Given the description of an element on the screen output the (x, y) to click on. 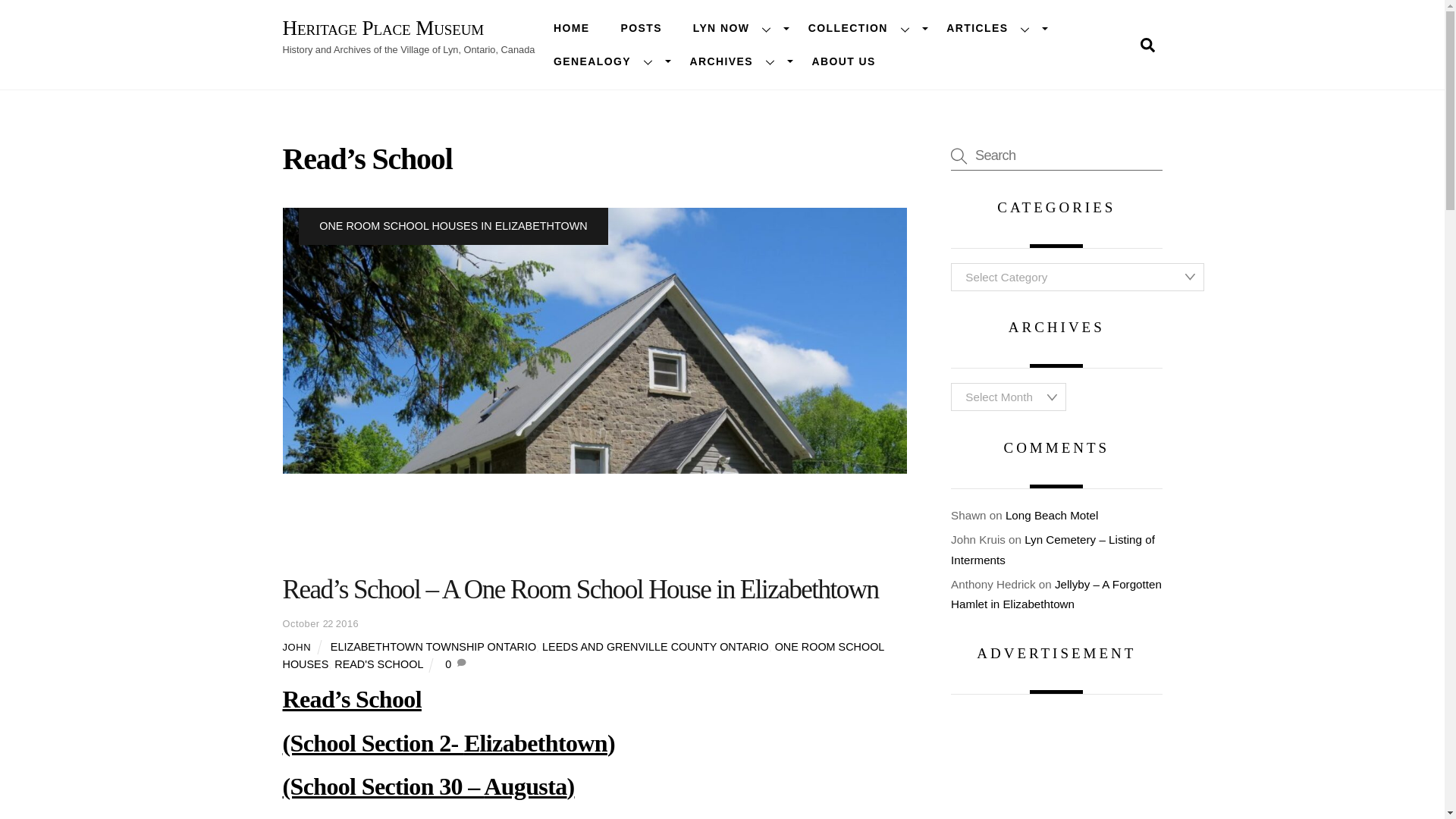
ARTICLES (991, 28)
GENEALOGY (606, 60)
Search (1146, 44)
POSTS (641, 28)
Heritage Place Museum (382, 27)
Search (1055, 154)
LYN NOW (734, 28)
HOME (571, 28)
COLLECTION (861, 28)
Heritage Place Museum (382, 27)
